Given the description of an element on the screen output the (x, y) to click on. 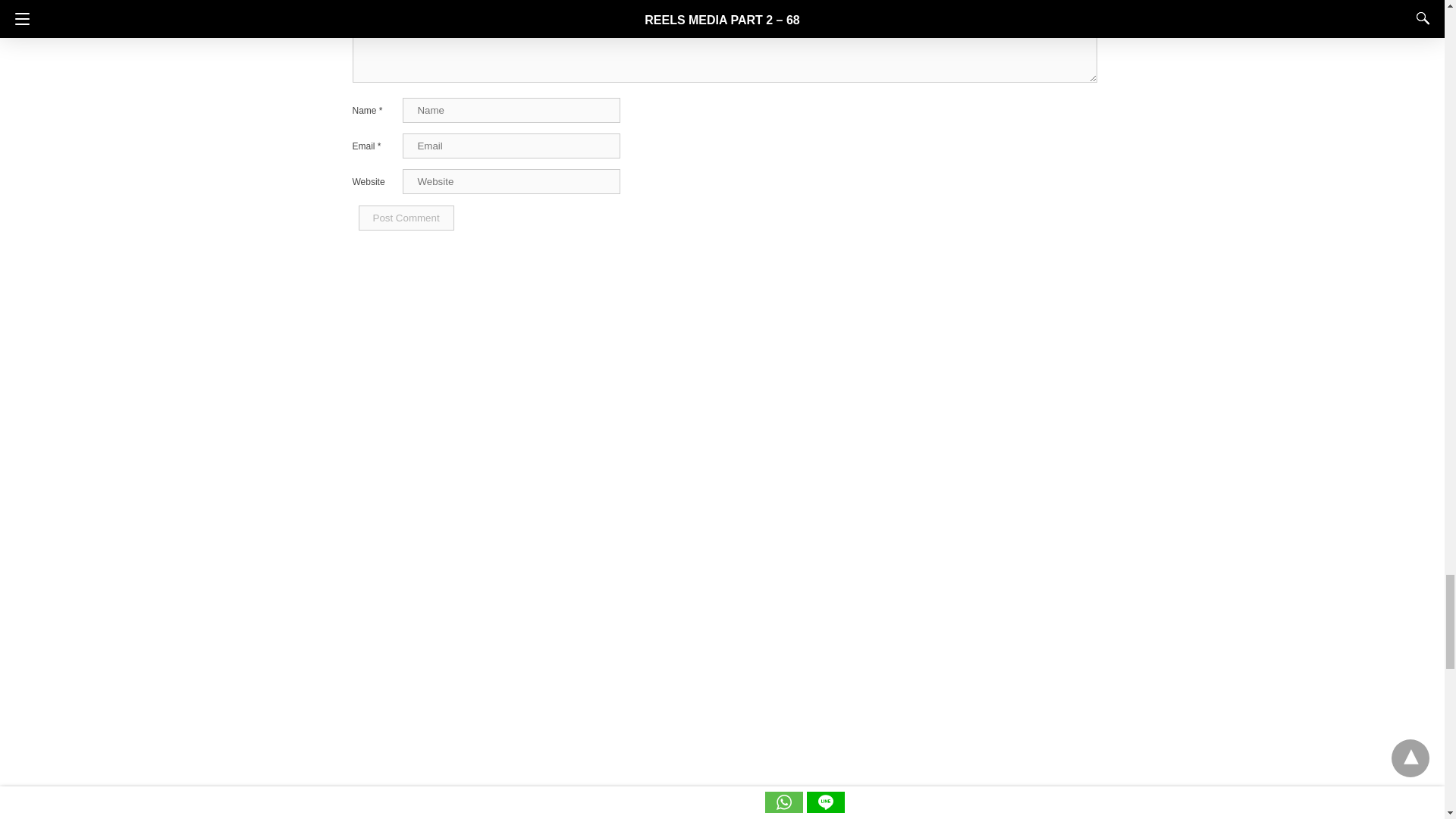
Post Comment (405, 217)
Post Comment (405, 217)
